Given the description of an element on the screen output the (x, y) to click on. 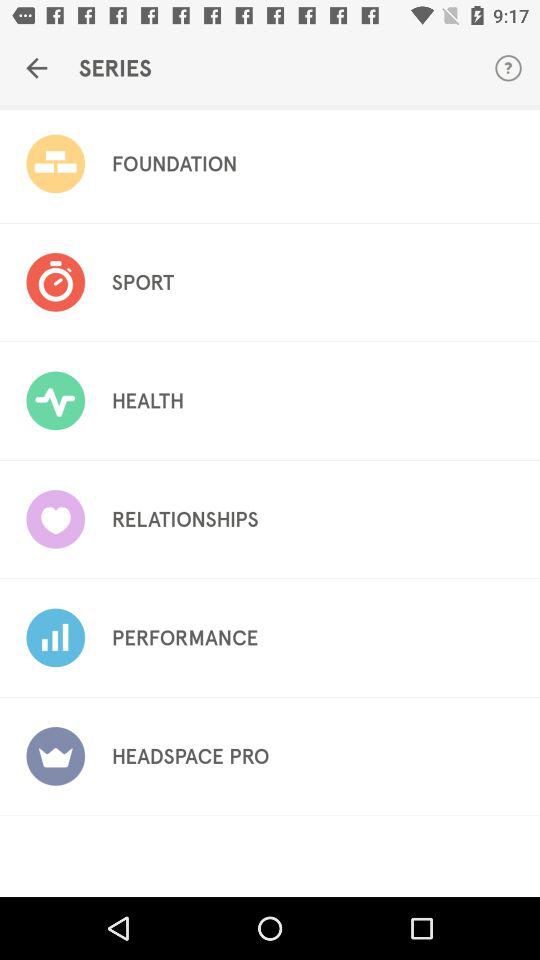
launch the icon below foundation (142, 282)
